Given the description of an element on the screen output the (x, y) to click on. 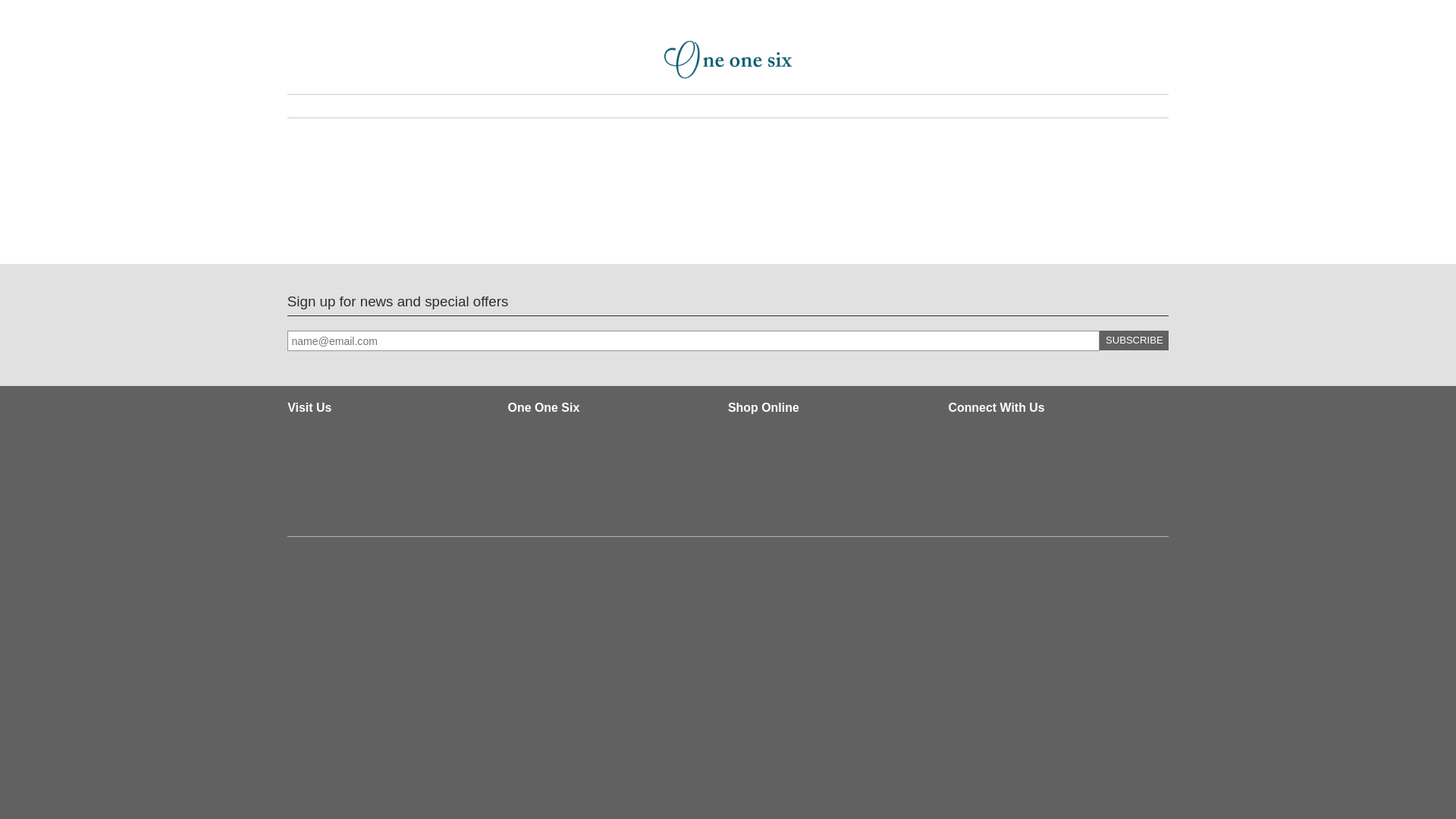
Subscribe Element type: text (1133, 340)
